Given the description of an element on the screen output the (x, y) to click on. 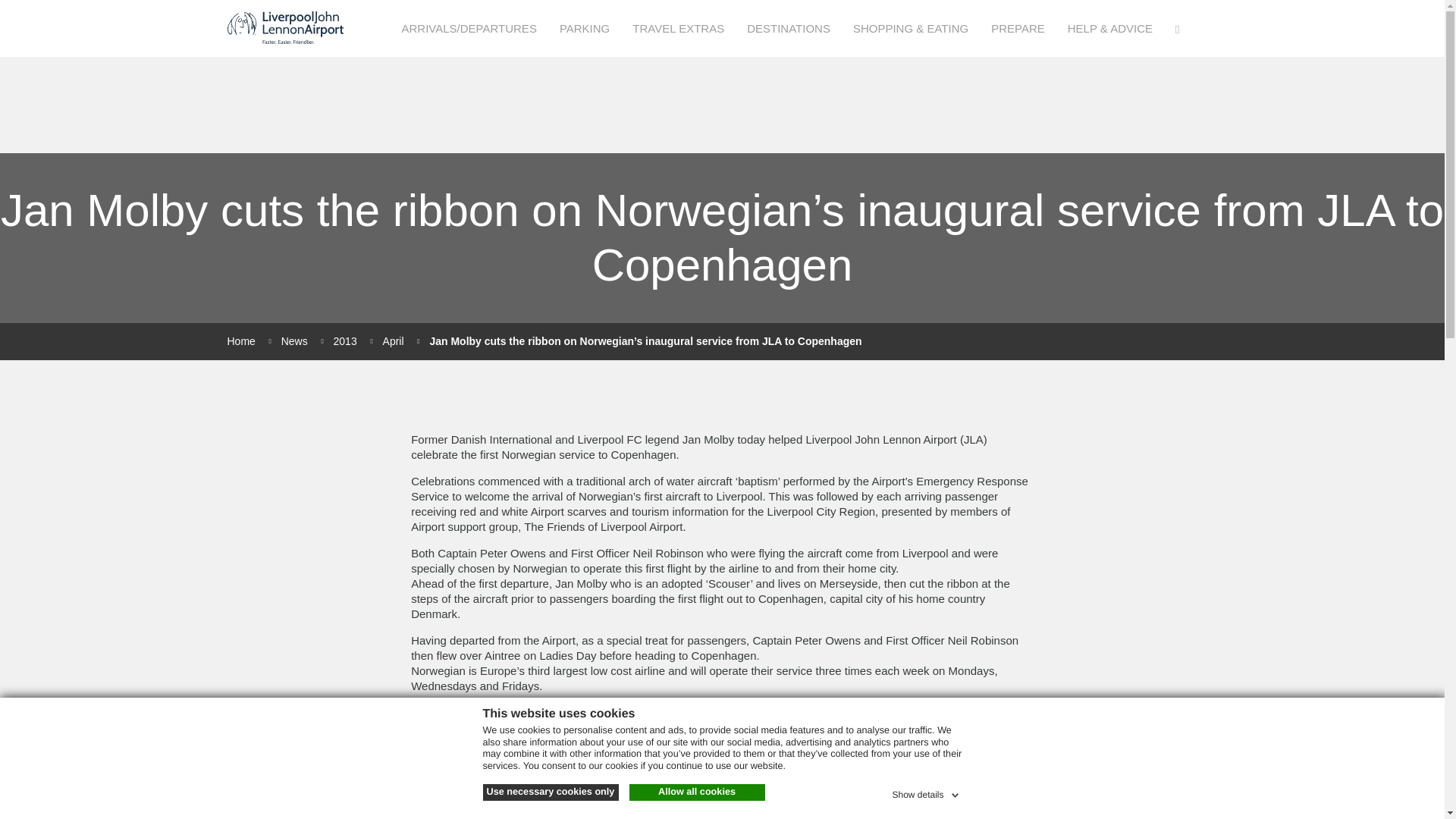
Allow all cookies (696, 791)
Show details (925, 791)
Use necessary cookies only (549, 791)
